Given the description of an element on the screen output the (x, y) to click on. 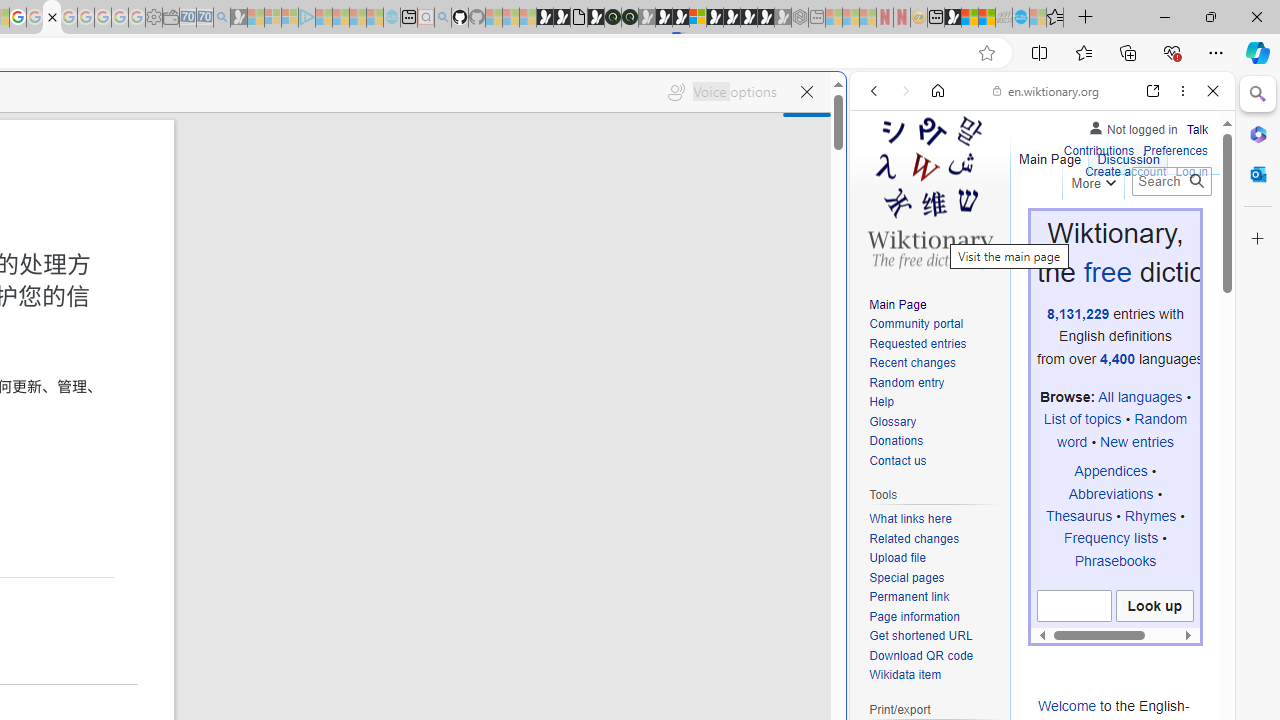
Rhymes (1150, 515)
Talk (1197, 126)
Community portal (916, 323)
Search or enter web address (343, 191)
Main Page (897, 303)
Appendices (1110, 471)
